Given the description of an element on the screen output the (x, y) to click on. 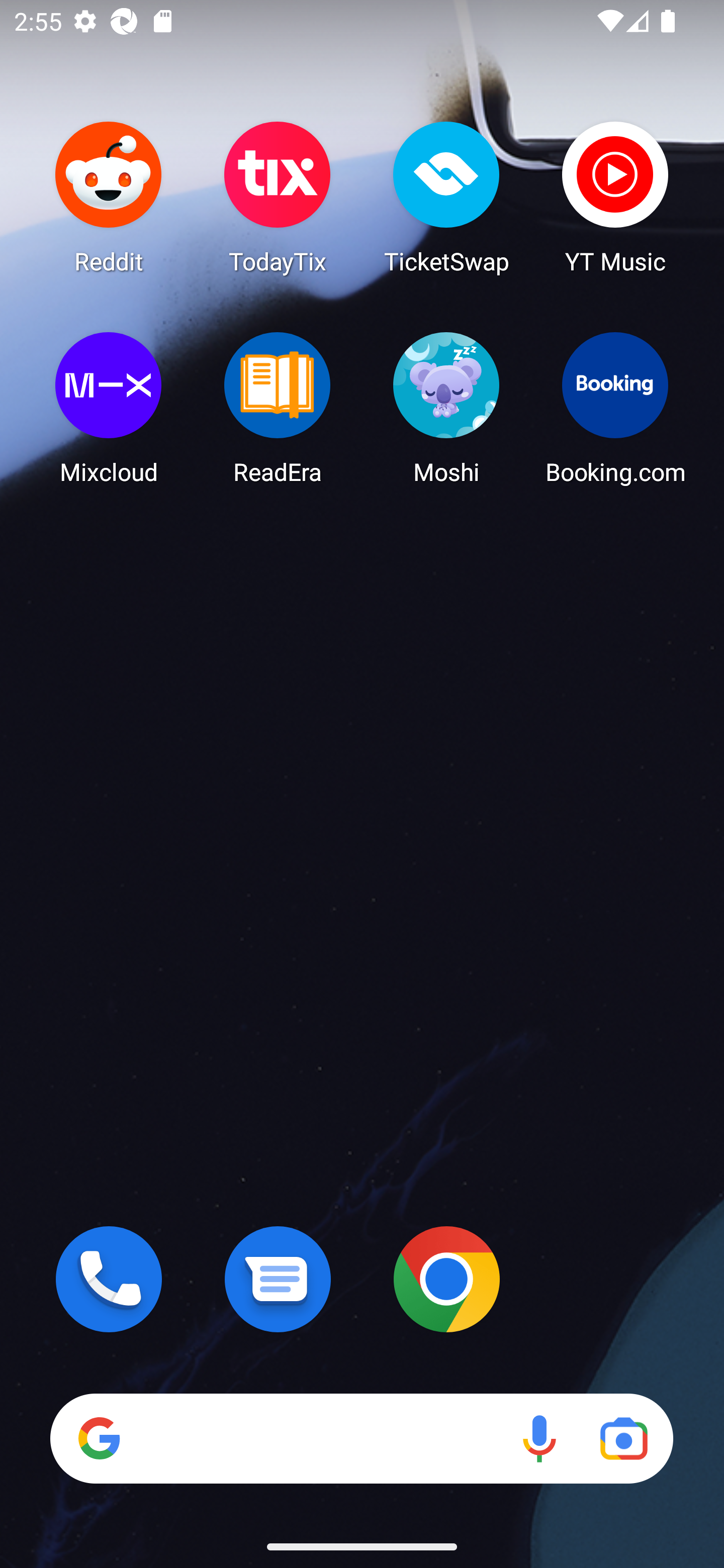
Reddit (108, 196)
TodayTix (277, 196)
TicketSwap (445, 196)
YT Music (615, 196)
Mixcloud (108, 407)
ReadEra (277, 407)
Moshi (445, 407)
Booking.com (615, 407)
Phone (108, 1279)
Messages (277, 1279)
Chrome (446, 1279)
Search Voice search Google Lens (361, 1438)
Voice search (539, 1438)
Google Lens (623, 1438)
